Given the description of an element on the screen output the (x, y) to click on. 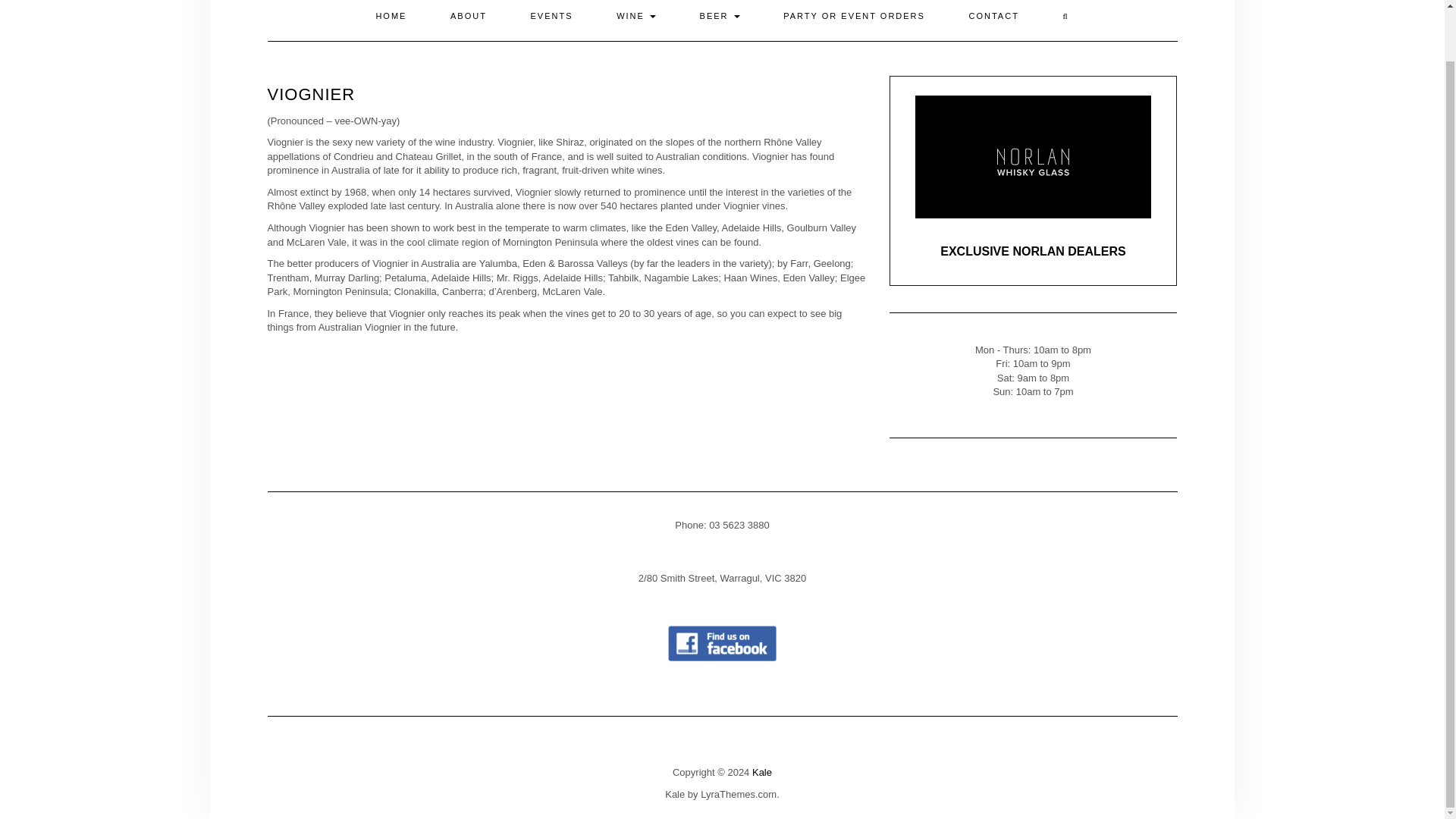
HOME (390, 20)
BEER (719, 20)
ABOUT (467, 20)
CONTACT (994, 20)
PARTY OR EVENT ORDERS (853, 20)
EVENTS (552, 20)
WINE (636, 20)
